Given the description of an element on the screen output the (x, y) to click on. 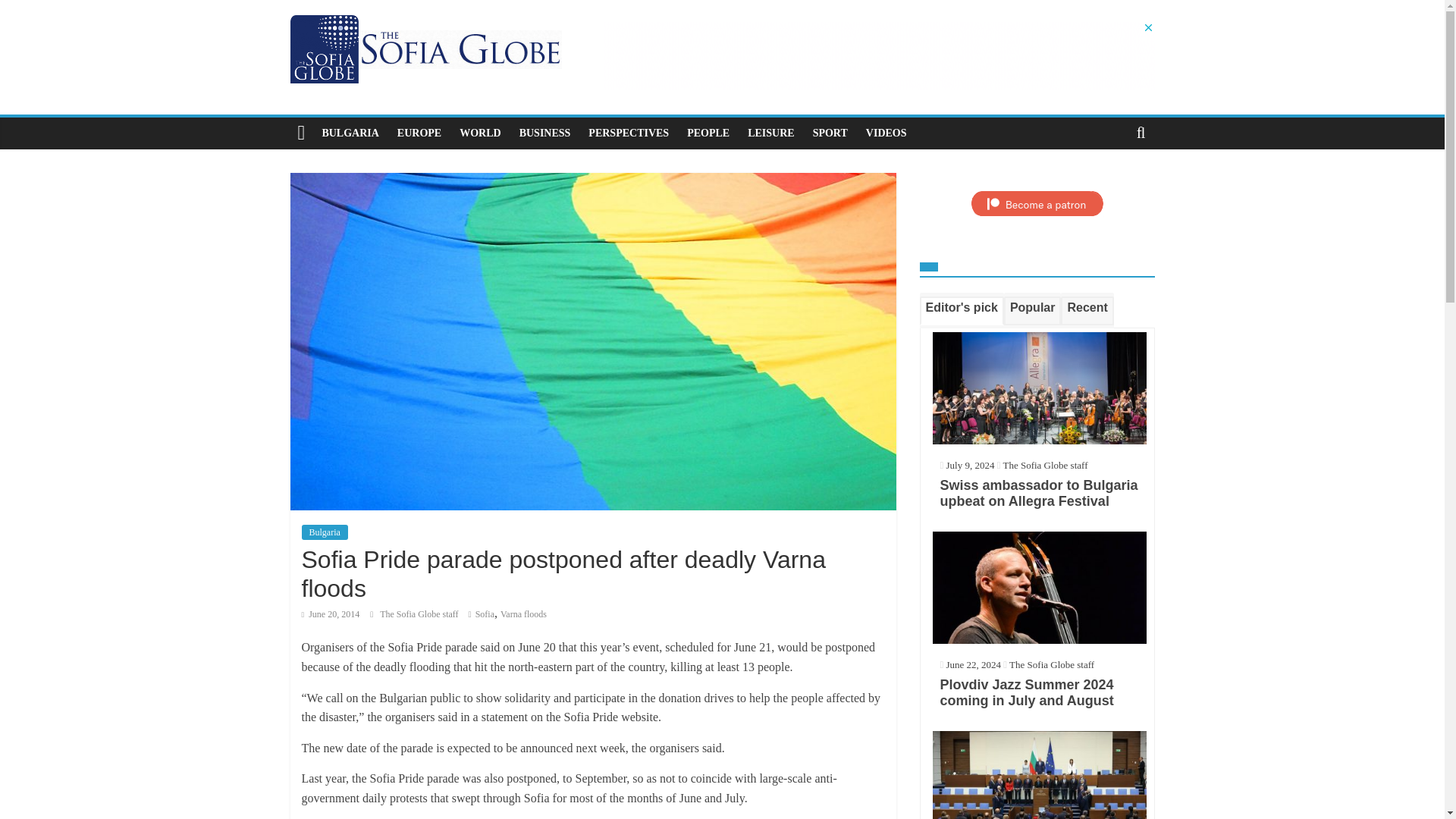
BULGARIA (350, 133)
The Sofia Globe staff (420, 614)
PEOPLE (708, 133)
WORLD (479, 133)
5:17 PM (330, 614)
June 20, 2014 (330, 614)
LEISURE (770, 133)
Varna floods (523, 614)
PERSPECTIVES (628, 133)
Sofia (485, 614)
The Sofia Globe (301, 133)
Bulgaria (324, 531)
The Sofia Globe staff (420, 614)
EUROPE (418, 133)
VIDEOS (886, 133)
